Given the description of an element on the screen output the (x, y) to click on. 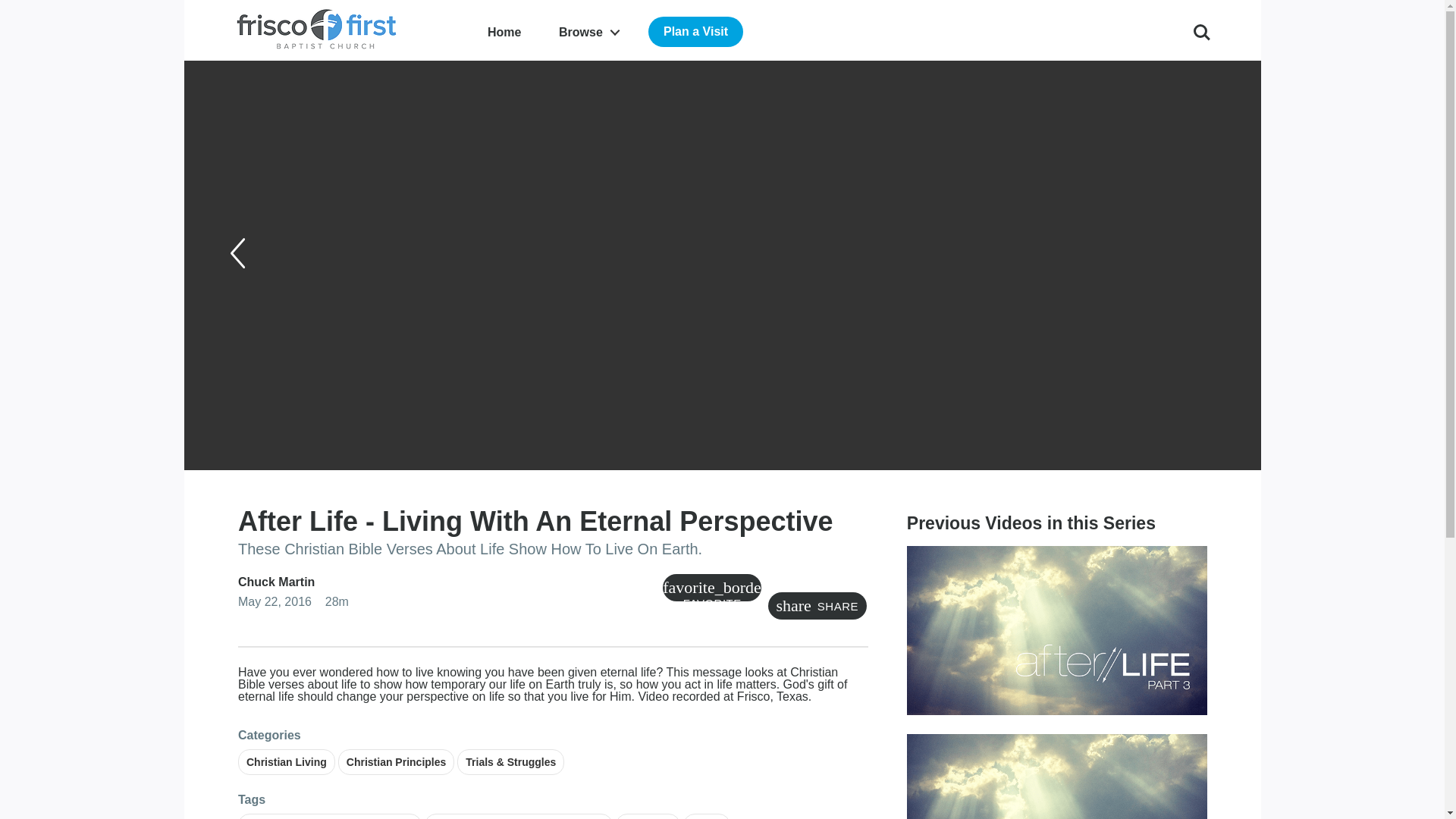
Browse (588, 32)
